Given the description of an element on the screen output the (x, y) to click on. 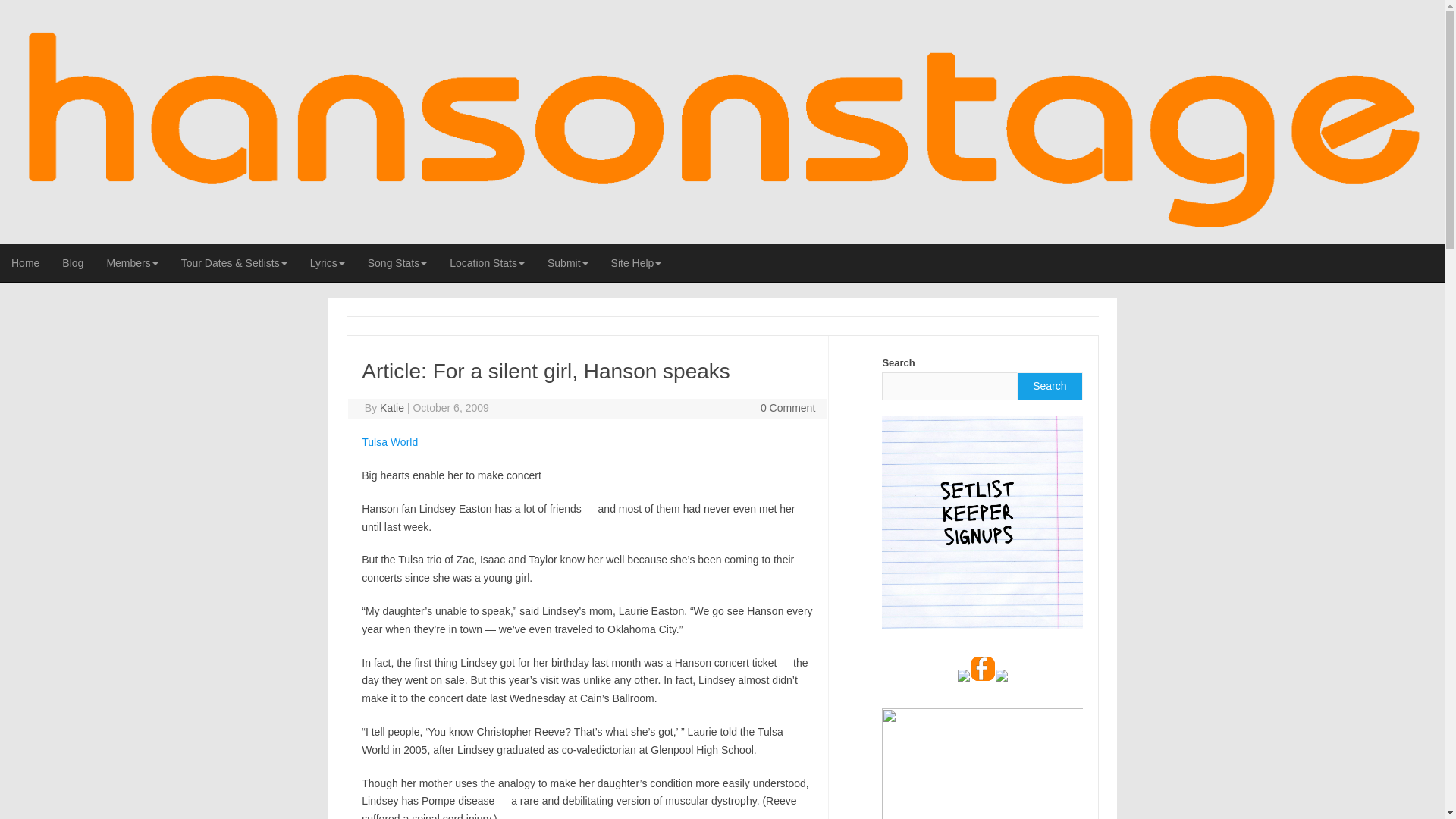
Members (131, 262)
Posts by Katie (392, 408)
Blog (72, 262)
Home (25, 262)
